Given the description of an element on the screen output the (x, y) to click on. 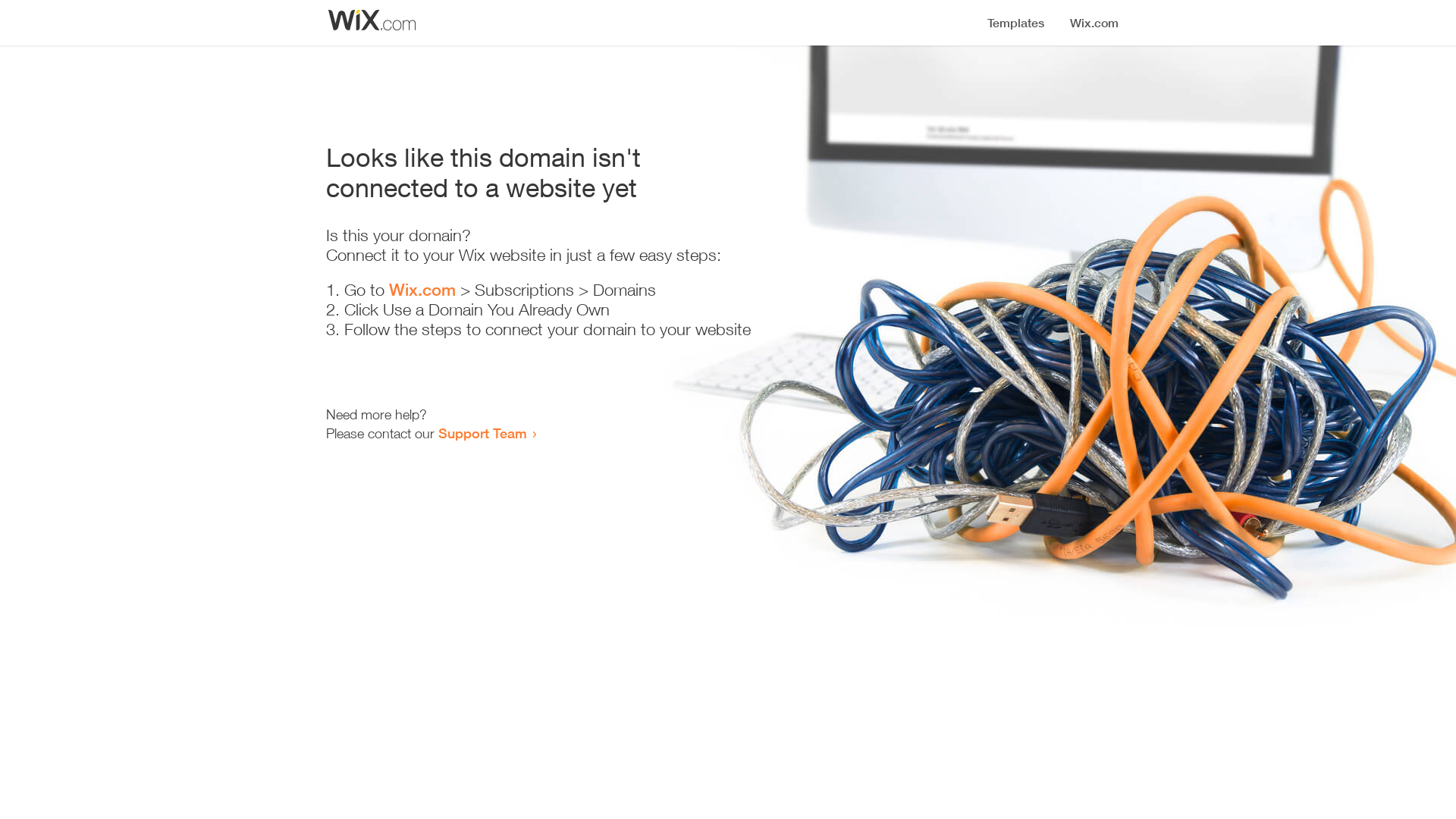
Support Team Element type: text (482, 432)
Wix.com Element type: text (422, 289)
